Given the description of an element on the screen output the (x, y) to click on. 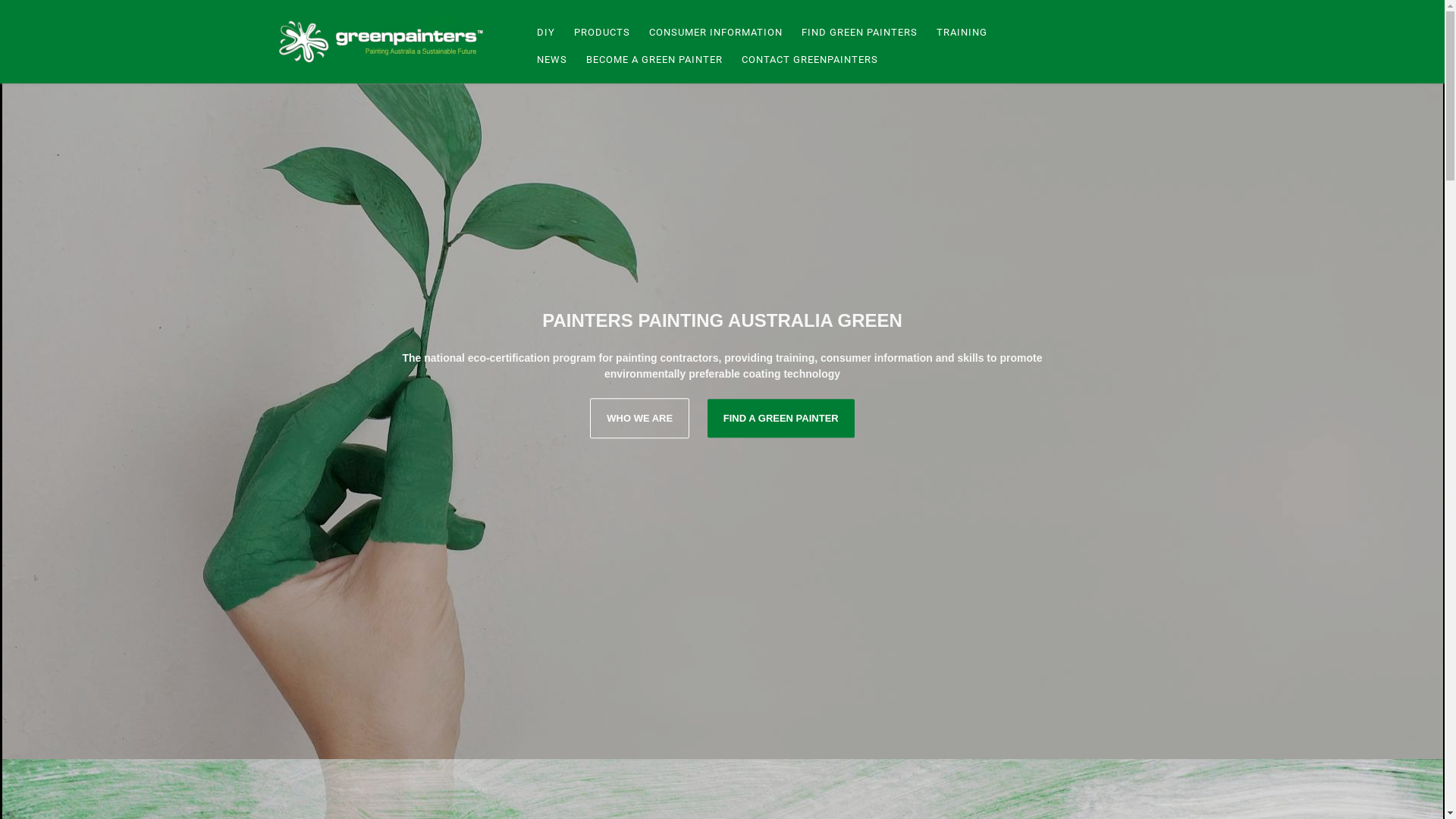
Green Painters Element type: text (385, 41)
TRAINING Element type: text (959, 32)
PRODUCTS Element type: text (599, 32)
DIY Element type: text (542, 32)
CONSUMER INFORMATION Element type: text (713, 32)
NEWS Element type: text (549, 59)
CONTACT GREENPAINTERS Element type: text (806, 59)
WHO WE ARE Element type: text (639, 418)
FIND GREEN PAINTERS Element type: text (857, 32)
BECOME A GREEN PAINTER Element type: text (652, 59)
FIND A GREEN PAINTER Element type: text (780, 417)
